Given the description of an element on the screen output the (x, y) to click on. 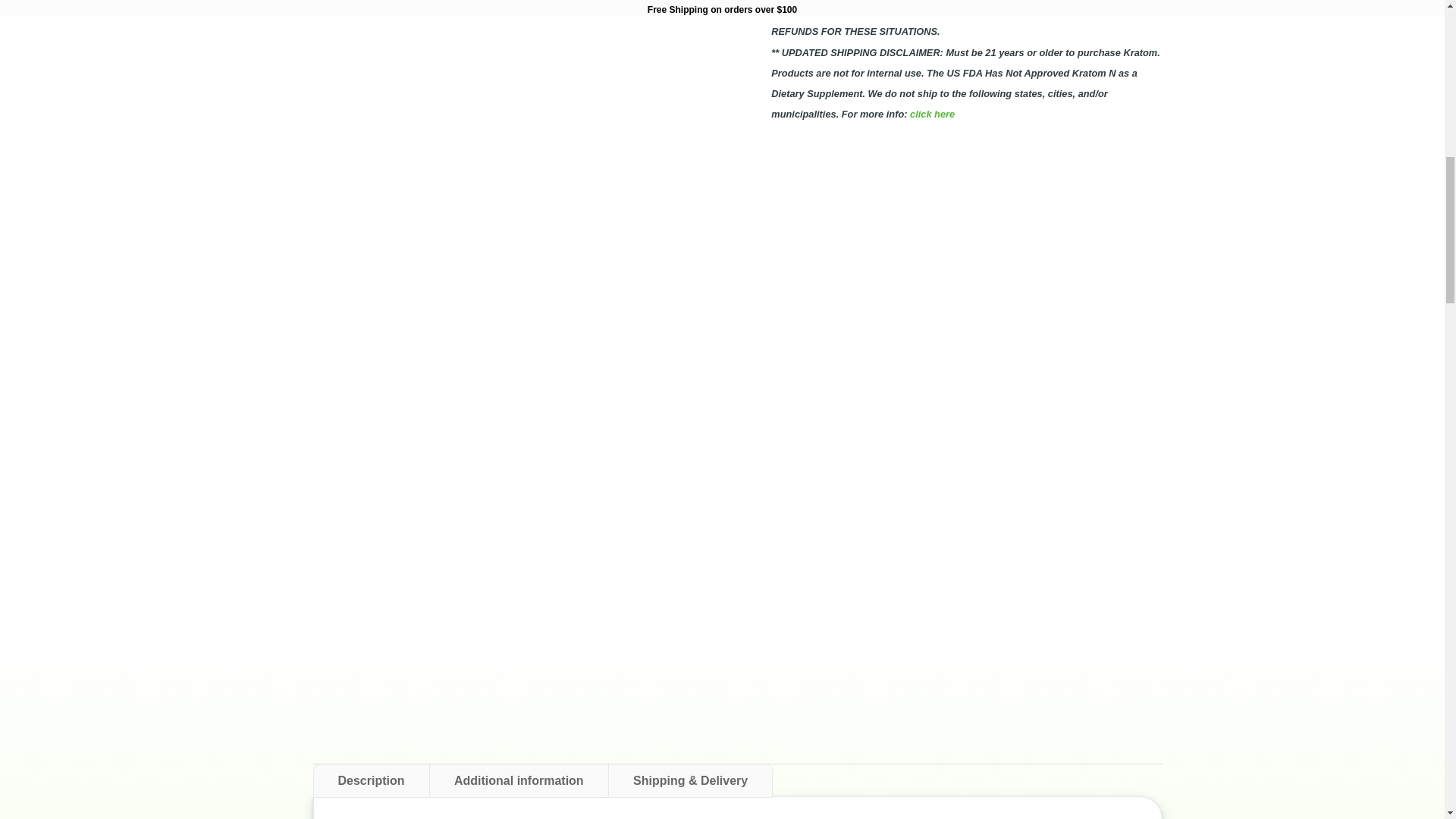
Description (370, 780)
Additional information (518, 780)
click here (932, 113)
